Given the description of an element on the screen output the (x, y) to click on. 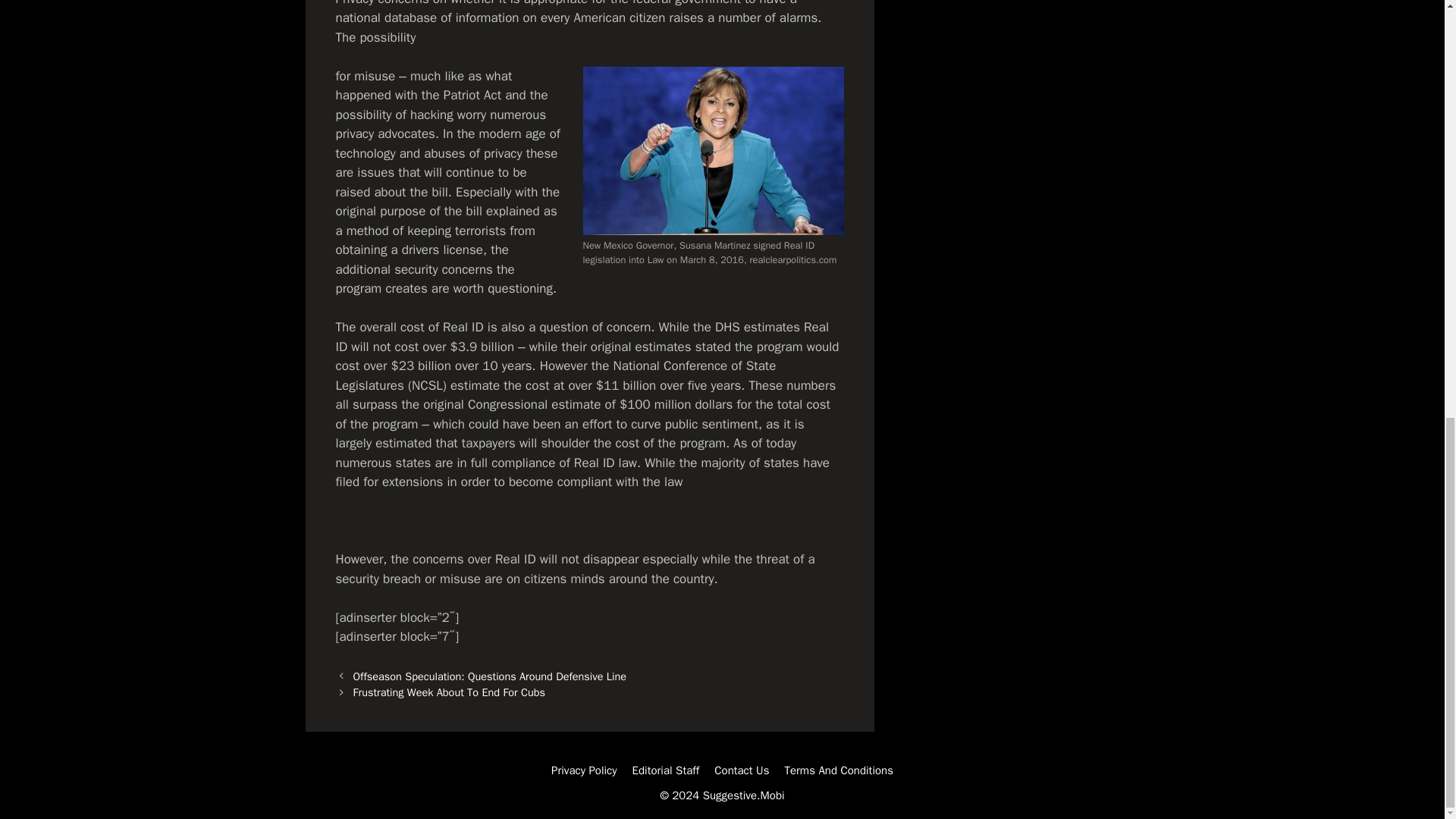
Contact Us (741, 770)
Terms And Conditions (838, 770)
Privacy Policy (584, 770)
Frustrating Week About To End For Cubs (448, 692)
Offseason Speculation: Questions Around Defensive Line (489, 676)
Editorial Staff (665, 770)
